Given the description of an element on the screen output the (x, y) to click on. 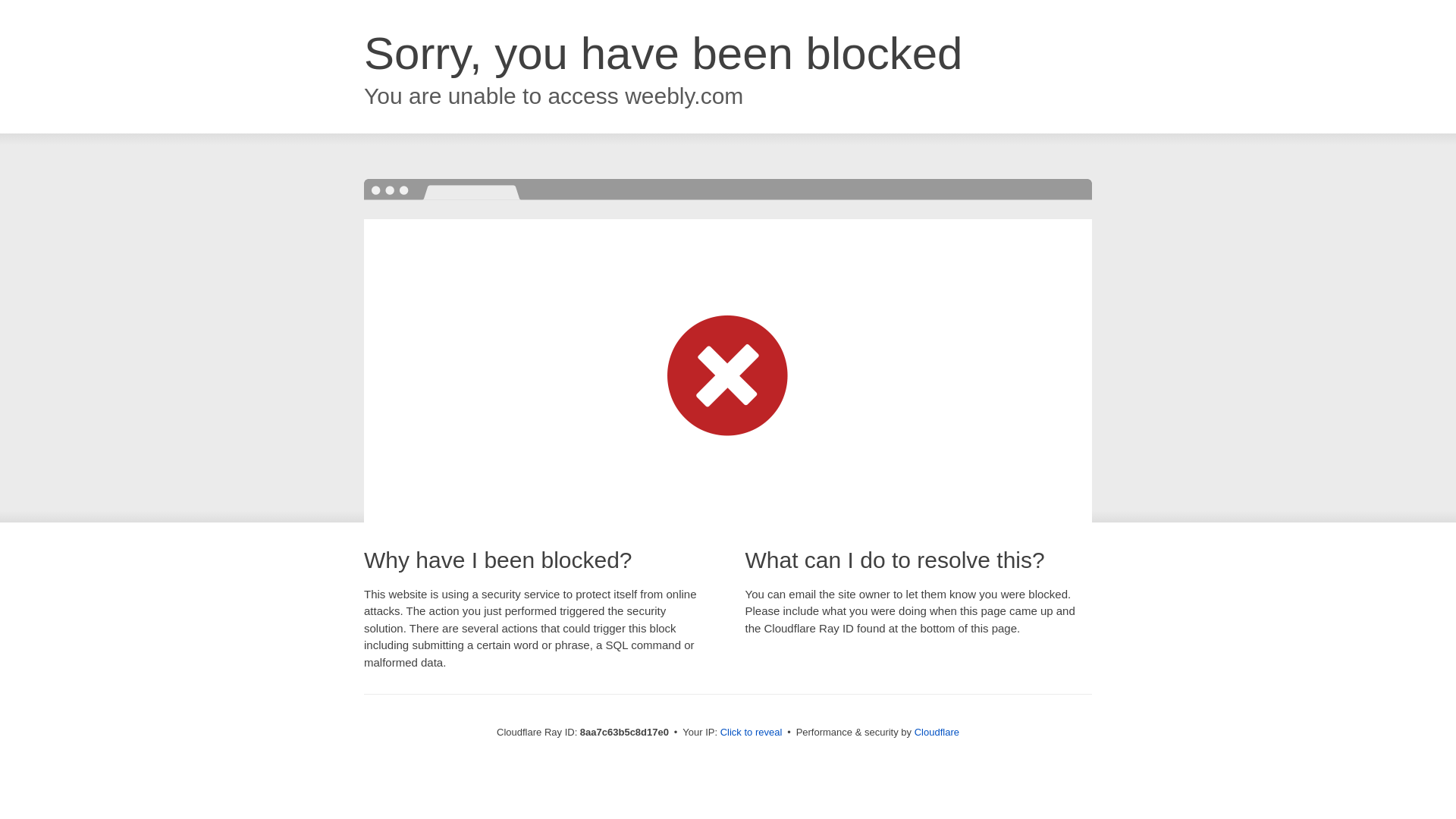
Cloudflare (936, 731)
Click to reveal (751, 732)
